Given the description of an element on the screen output the (x, y) to click on. 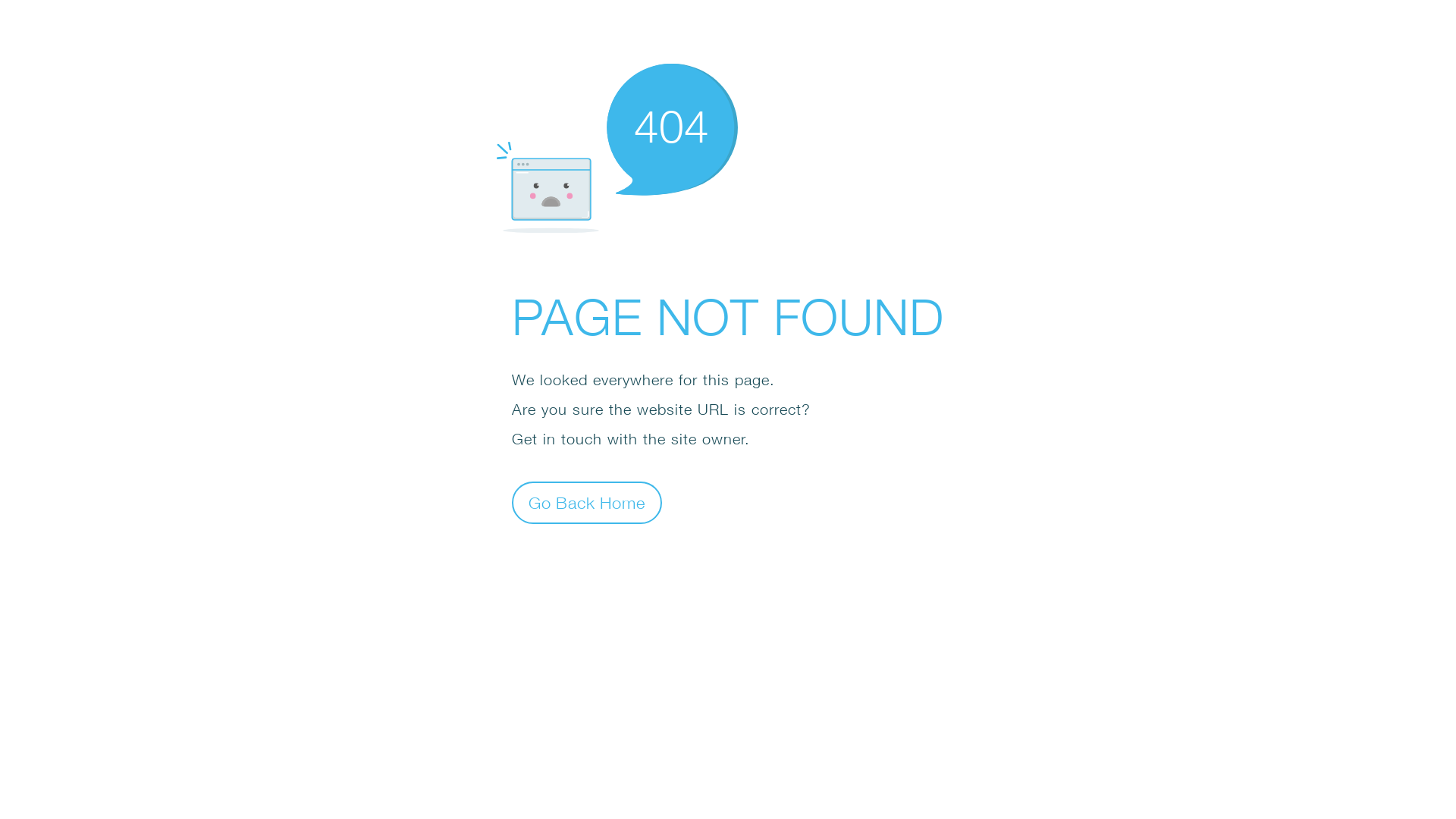
Go Back Home Element type: text (586, 502)
